Given the description of an element on the screen output the (x, y) to click on. 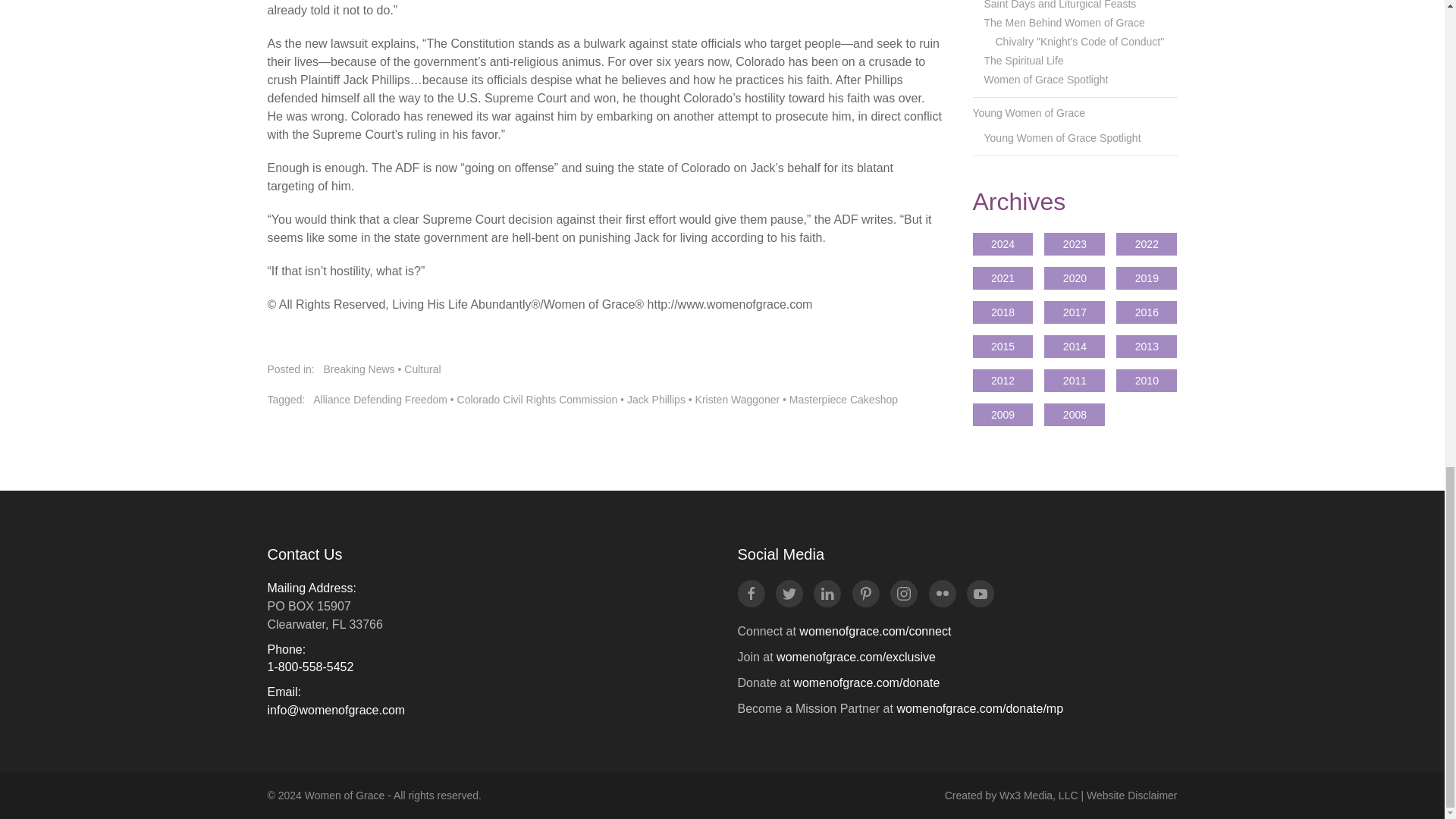
Cultural (422, 369)
Kristen Waggoner (737, 399)
Alliance Defending Freedom (379, 399)
Masterpiece Cakeshop (843, 399)
Colorado Civil Rights Commission (537, 399)
Breaking News (358, 369)
Jack Phillips (656, 399)
